Given the description of an element on the screen output the (x, y) to click on. 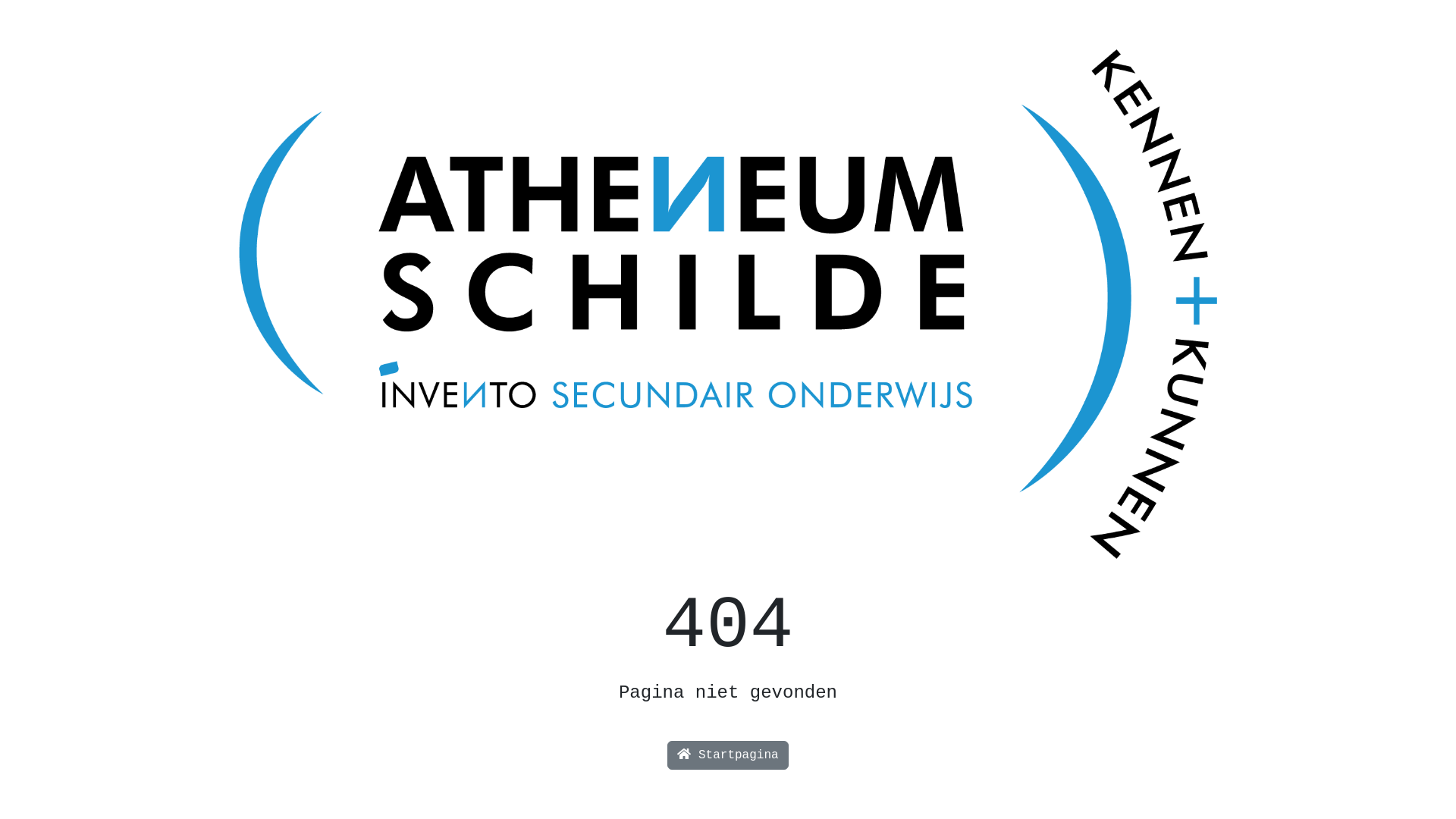
Startpagina Element type: text (727, 754)
